Given the description of an element on the screen output the (x, y) to click on. 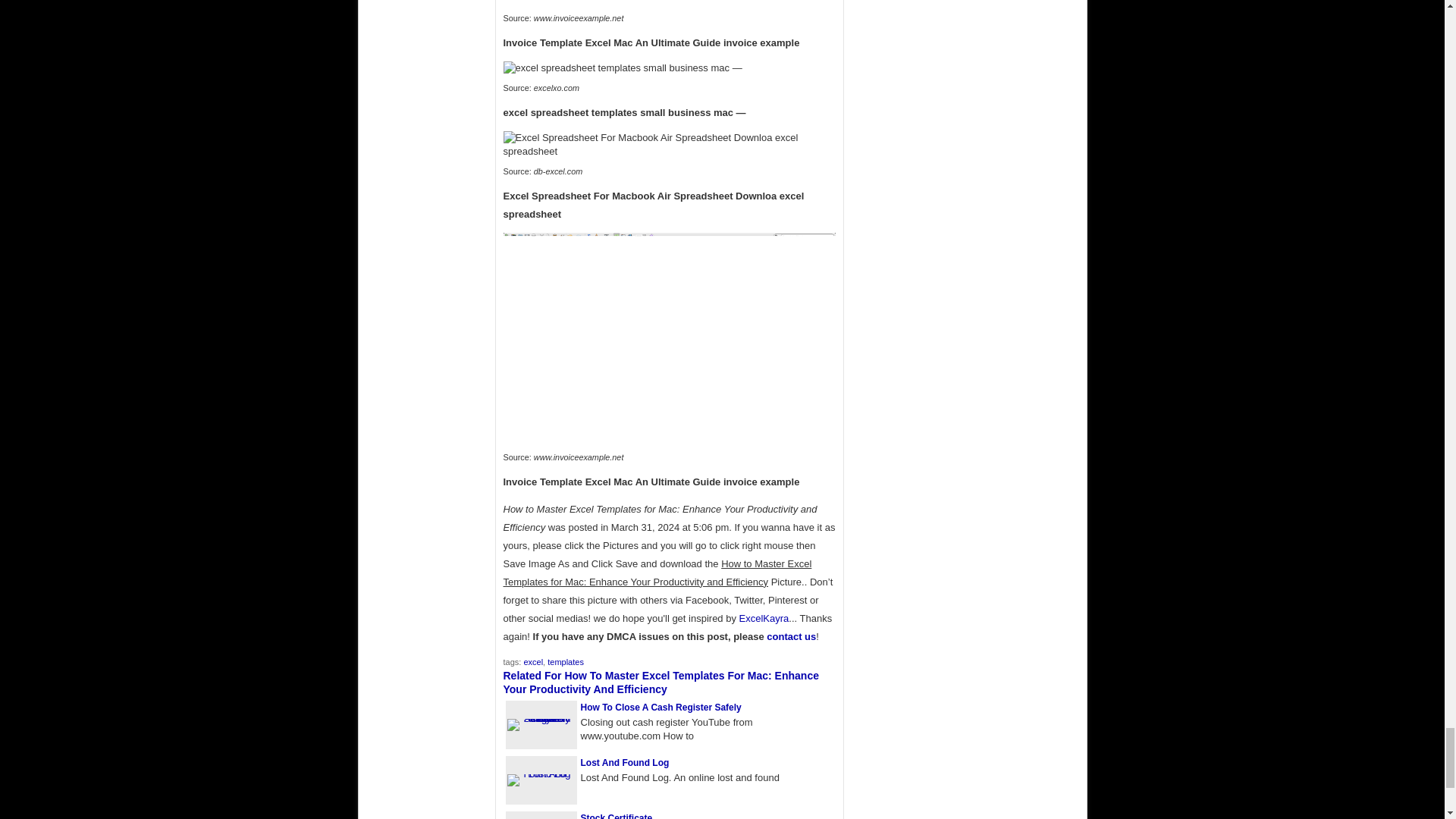
Stock Certificate (616, 816)
contact us (791, 636)
Lost And Found Log (624, 762)
How To Close A Cash Register Safely And Accurately In 2023 (660, 706)
Lost And Found Log (624, 762)
Lost And Found Log (540, 773)
How To Close A Cash Register Safely (660, 706)
templates (565, 661)
Stock Certificate (616, 816)
excel (532, 661)
